Given the description of an element on the screen output the (x, y) to click on. 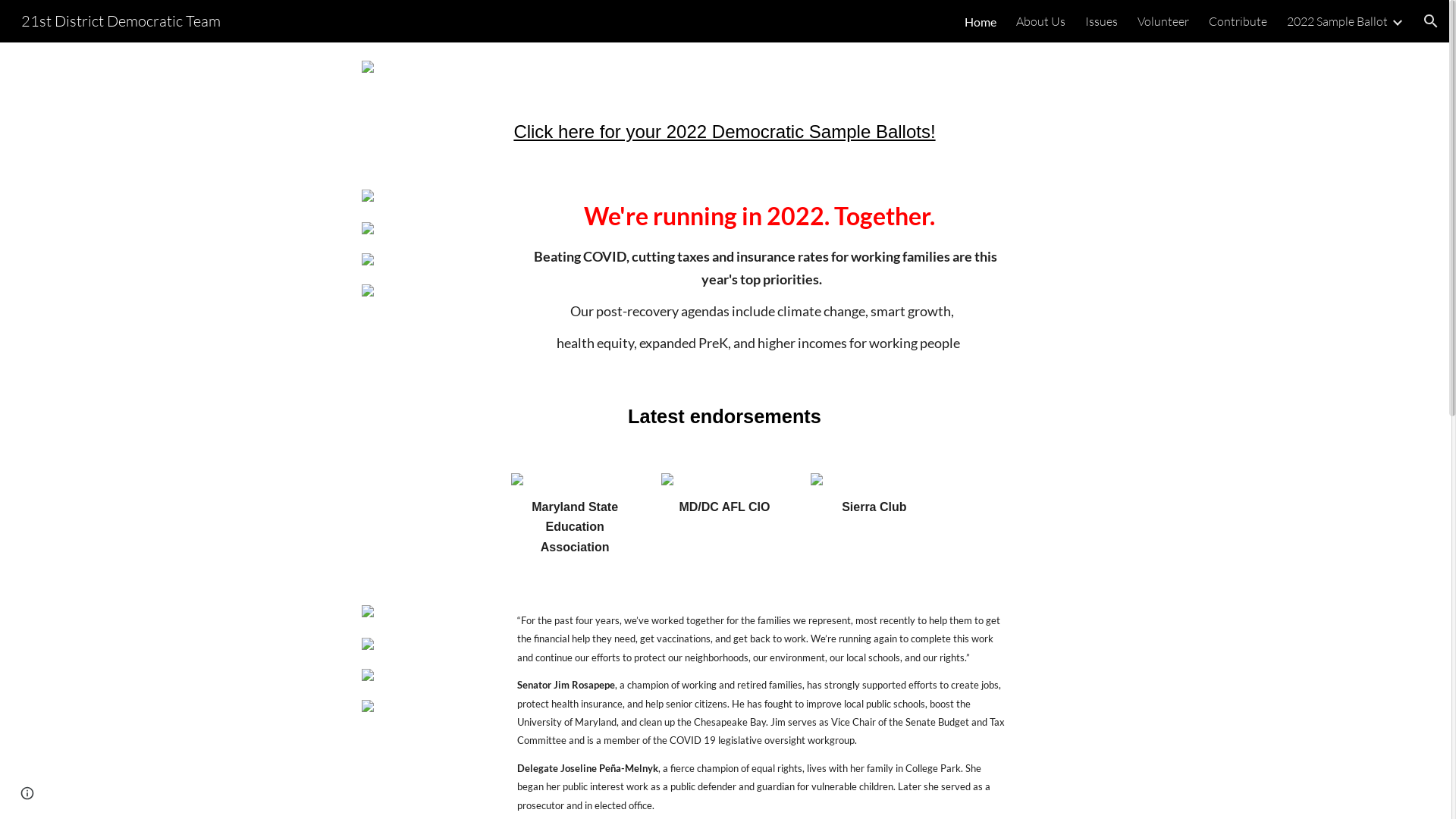
About Us Element type: text (1040, 20)
Home Element type: text (980, 20)
Contribute Element type: text (1237, 20)
Volunteer Element type: text (1163, 20)
21st District Democratic Team Element type: text (120, 18)
Expand/Collapse Element type: hover (1396, 20)
2022 Sample Ballot Element type: text (1336, 20)
Click here for your 2022 Democratic Sample Ballots! Element type: text (724, 133)
Issues Element type: text (1101, 20)
